Given the description of an element on the screen output the (x, y) to click on. 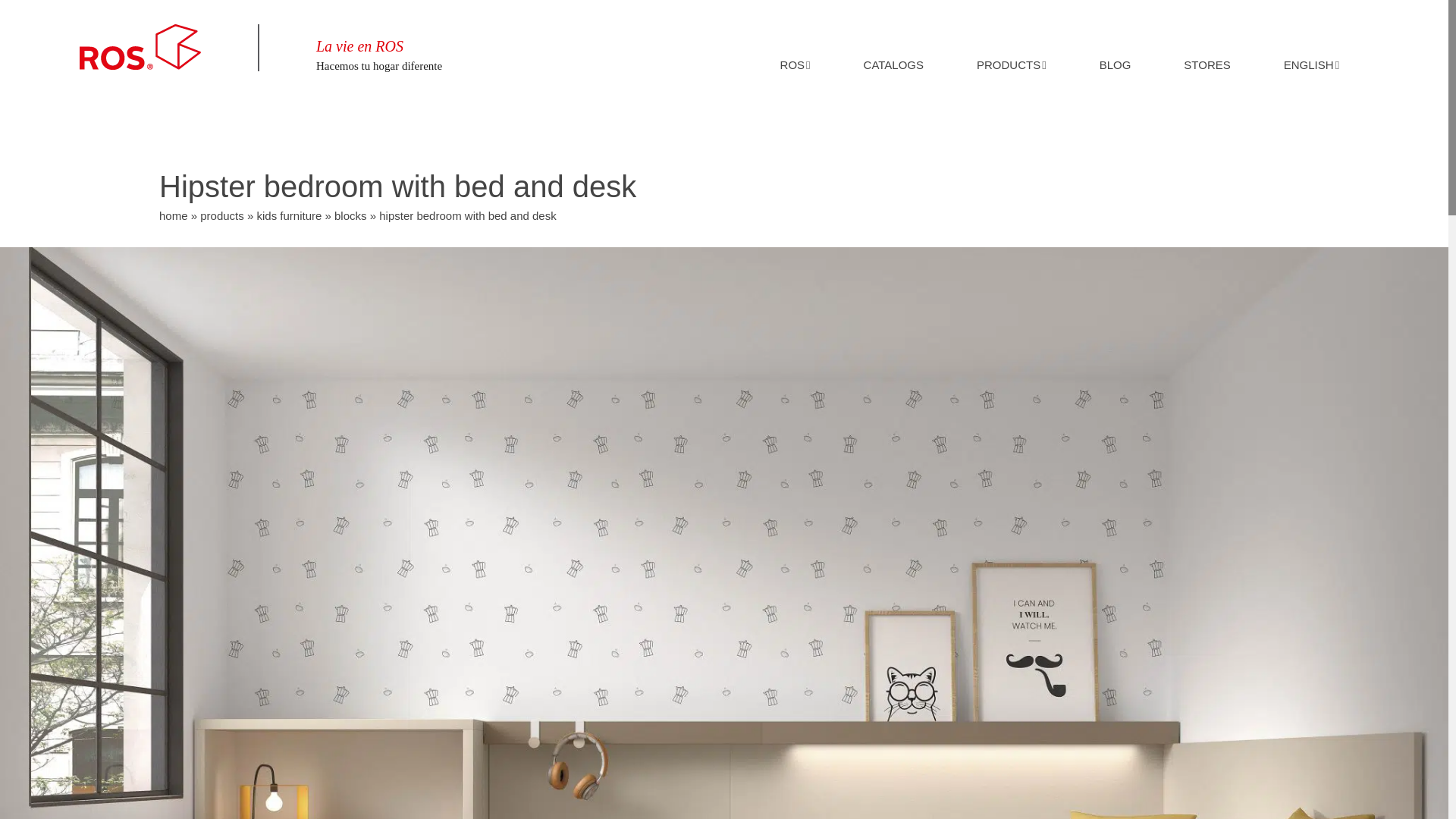
kids furniture (288, 215)
BLOG (1115, 47)
ENGLISH (1311, 47)
PRODUCTS (1011, 47)
STORES (1206, 47)
home (172, 215)
blocks (350, 215)
ROS (795, 47)
products (222, 215)
CATALOGS (893, 47)
